Given the description of an element on the screen output the (x, y) to click on. 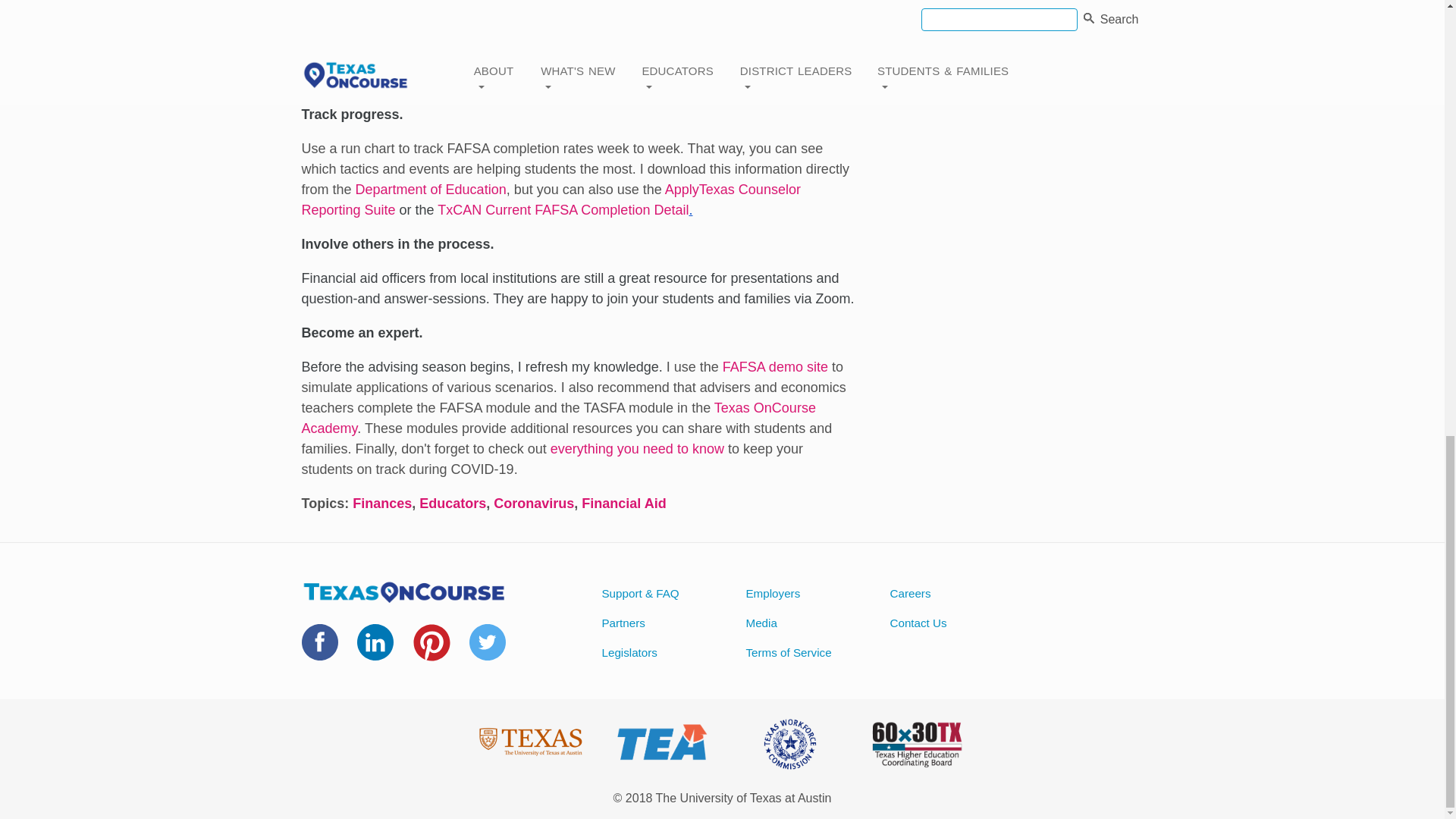
Connect with us on LinkedIn (374, 650)
Connect with us on Twitter (486, 650)
Connect with us on Facebook (319, 650)
Connect with us on Pinterest (431, 651)
